Given the description of an element on the screen output the (x, y) to click on. 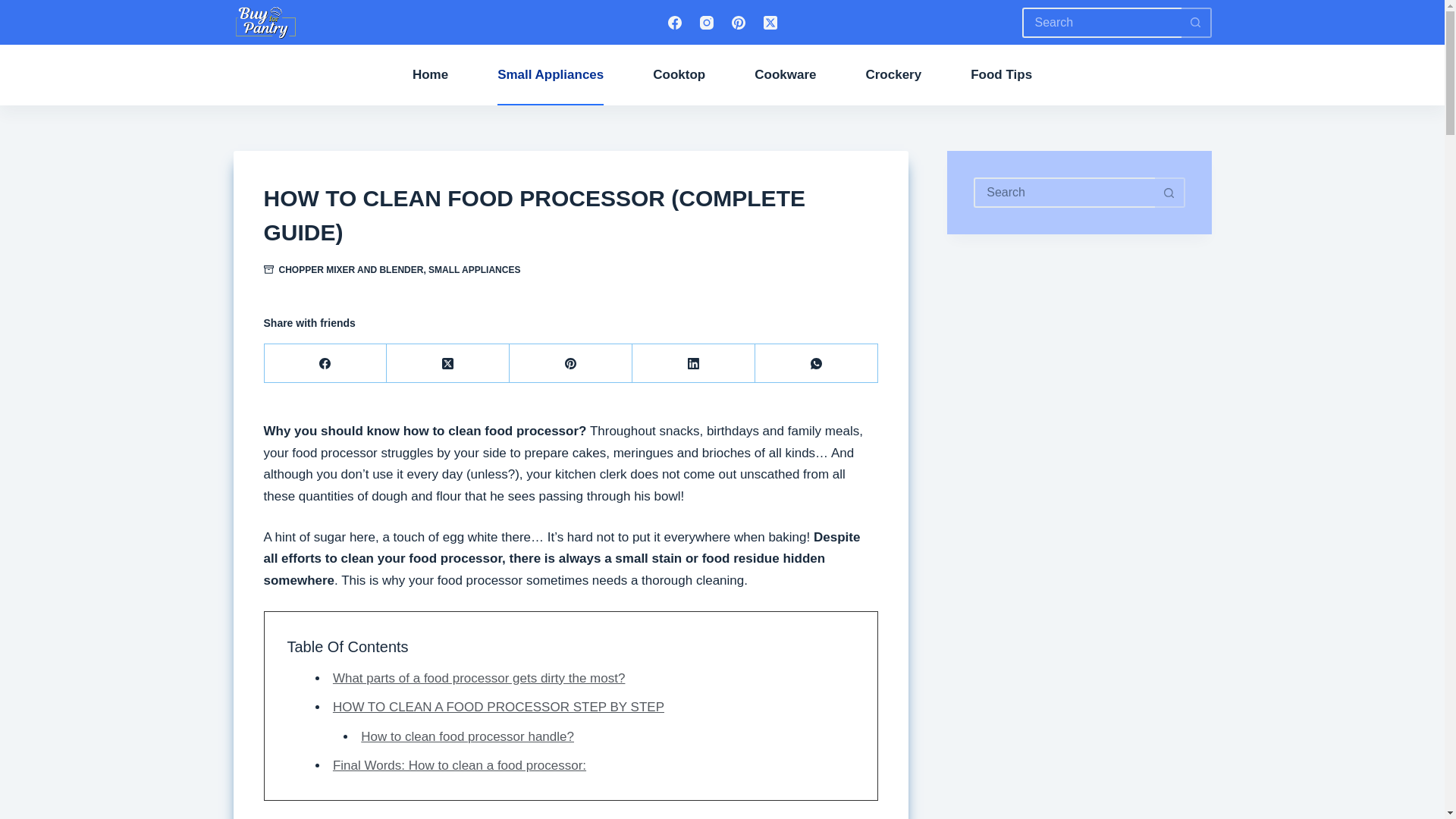
Food Tips (1001, 75)
Crockery (893, 75)
Cookware (785, 75)
Cooktop (679, 75)
Small Appliances (550, 75)
Home (429, 75)
What parts of a food processor gets dirty the most? (479, 677)
Search for... (1101, 22)
How to clean food processor handle? (467, 736)
Final Words: How to clean a food processor: (459, 765)
HOW TO CLEAN A FOOD PROCESSOR STEP BY STEP (498, 707)
SMALL APPLIANCES (473, 269)
CHOPPER MIXER AND BLENDER (351, 269)
Skip to content (15, 7)
Search for... (1064, 192)
